Given the description of an element on the screen output the (x, y) to click on. 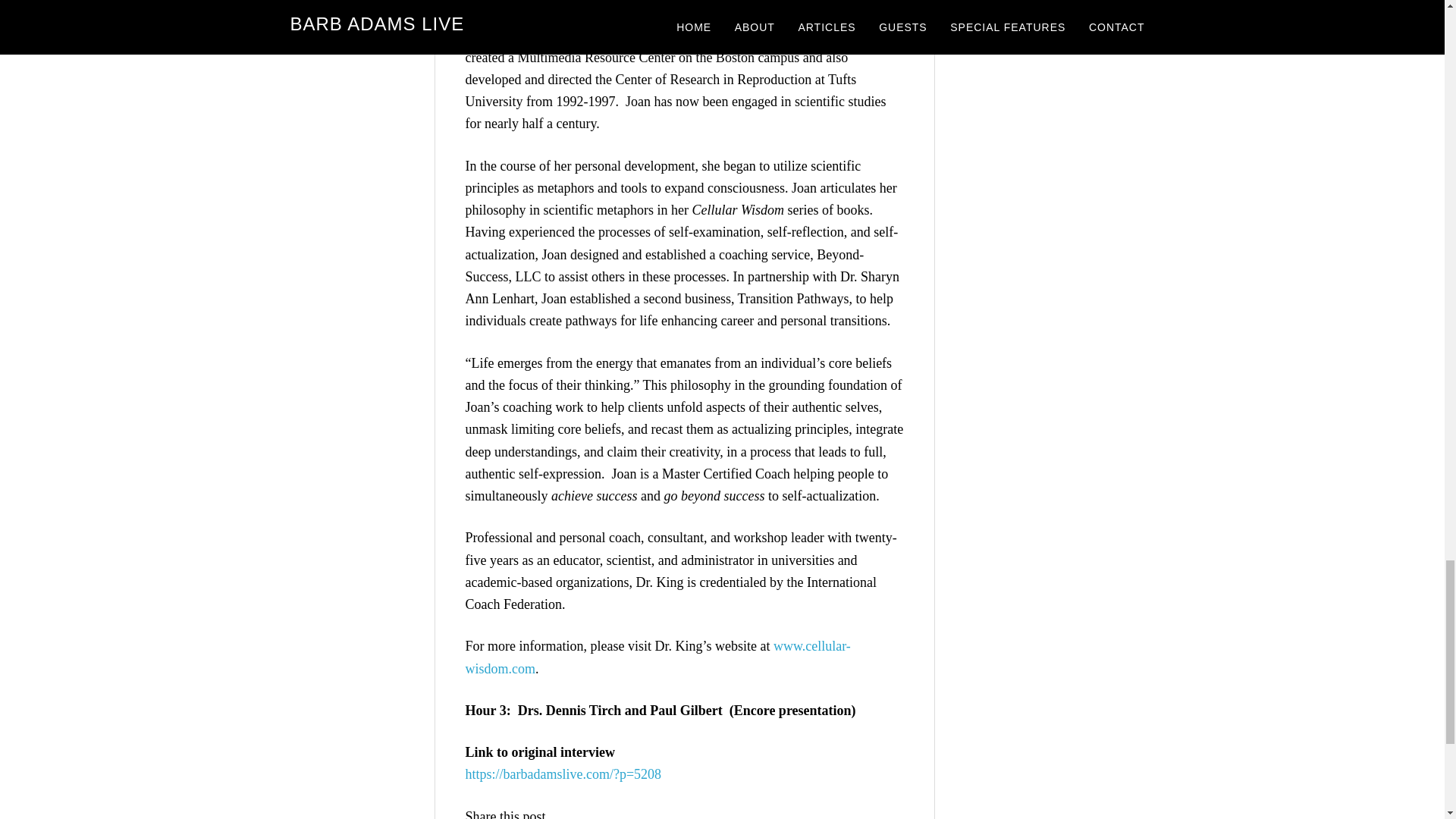
www.cellular-wisdom.com (657, 656)
Tufts University Schools of Medicine in Boston (677, 10)
